Given the description of an element on the screen output the (x, y) to click on. 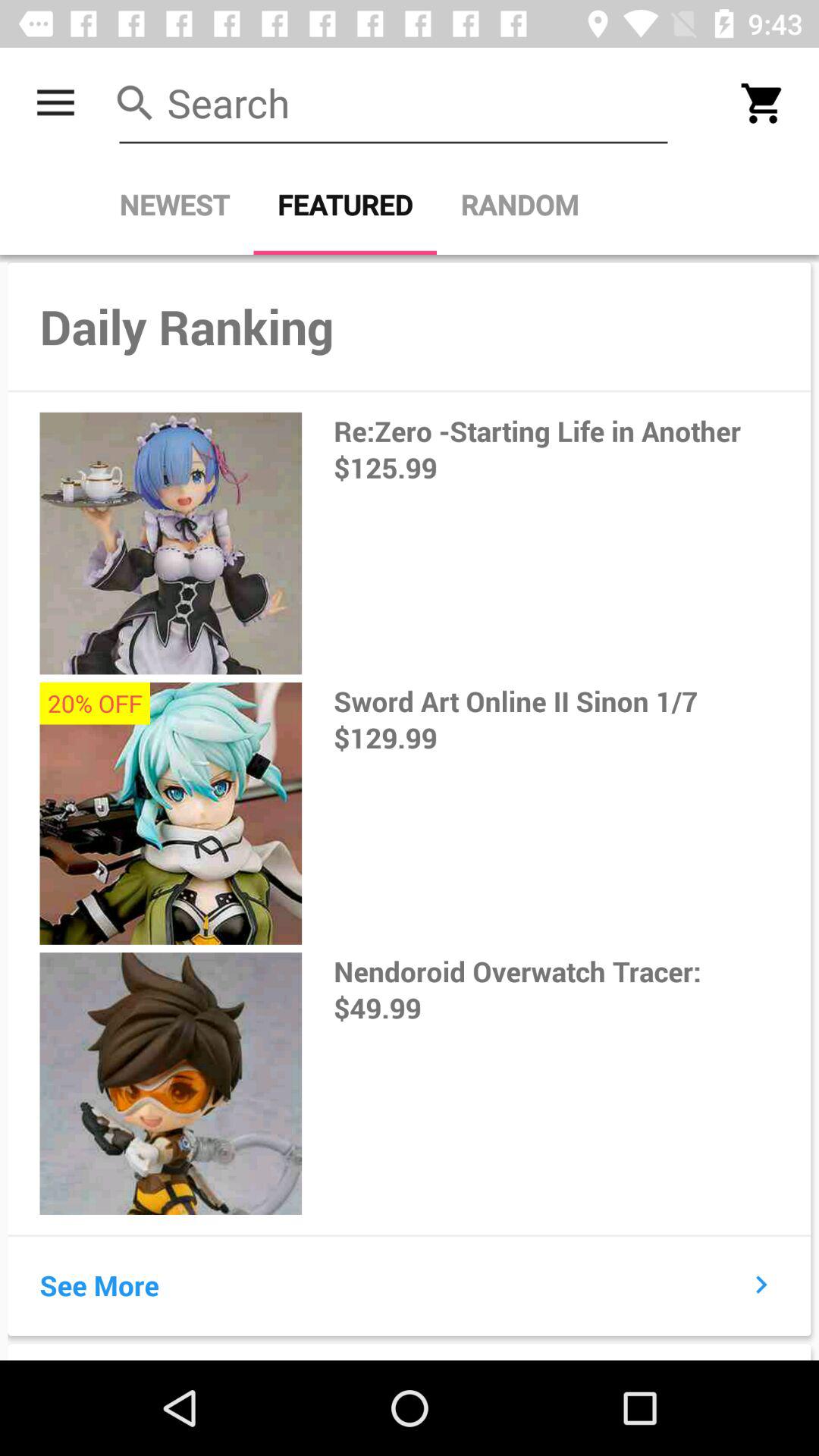
turn on the item above the newest item (55, 103)
